Given the description of an element on the screen output the (x, y) to click on. 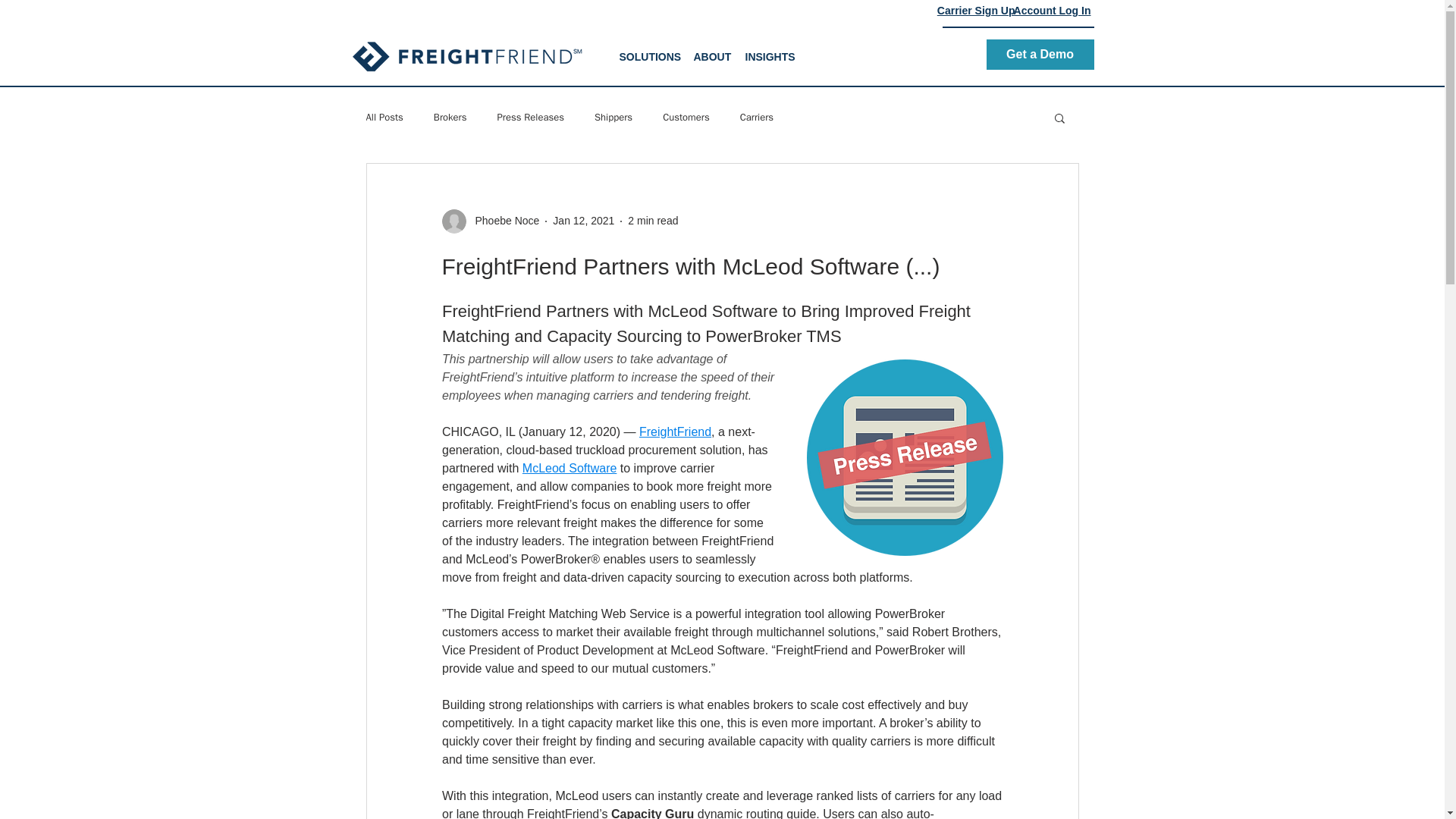
Phoebe Noce (501, 220)
Carriers (756, 117)
Carrier Sign Up (975, 10)
Customers (686, 117)
FreightFriend (674, 431)
Account Log In (1051, 10)
Get a Demo (1039, 54)
McLeod Software (568, 468)
Shippers (612, 117)
Jan 12, 2021 (583, 220)
Press Releases (530, 117)
2 min read (652, 220)
All Posts (384, 117)
Brokers (450, 117)
